Given the description of an element on the screen output the (x, y) to click on. 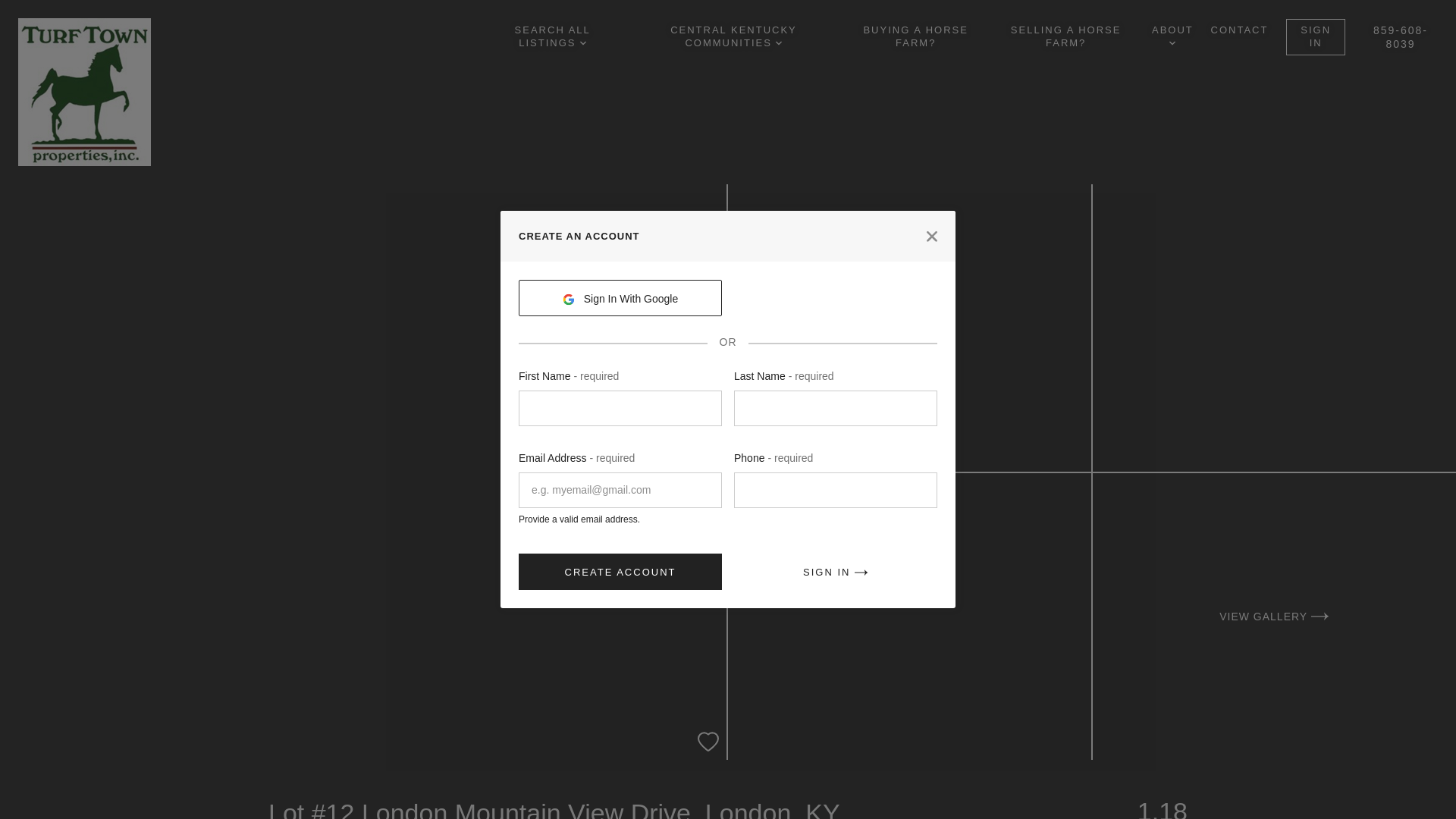
CONTACT (1239, 30)
DROPDOWN ARROW (778, 42)
859-608-8039 (1400, 36)
SELLING A HORSE FARM? (1065, 37)
SEARCH ALL LISTINGS DROPDOWN ARROW (552, 37)
BUYING A HORSE FARM? (914, 37)
DROPDOWN ARROW (582, 42)
CENTRAL KENTUCKY COMMUNITIES DROPDOWN ARROW (733, 37)
DROPDOWN ARROW (1171, 42)
SIGN IN (1315, 36)
ABOUT DROPDOWN ARROW (1172, 37)
